Given the description of an element on the screen output the (x, y) to click on. 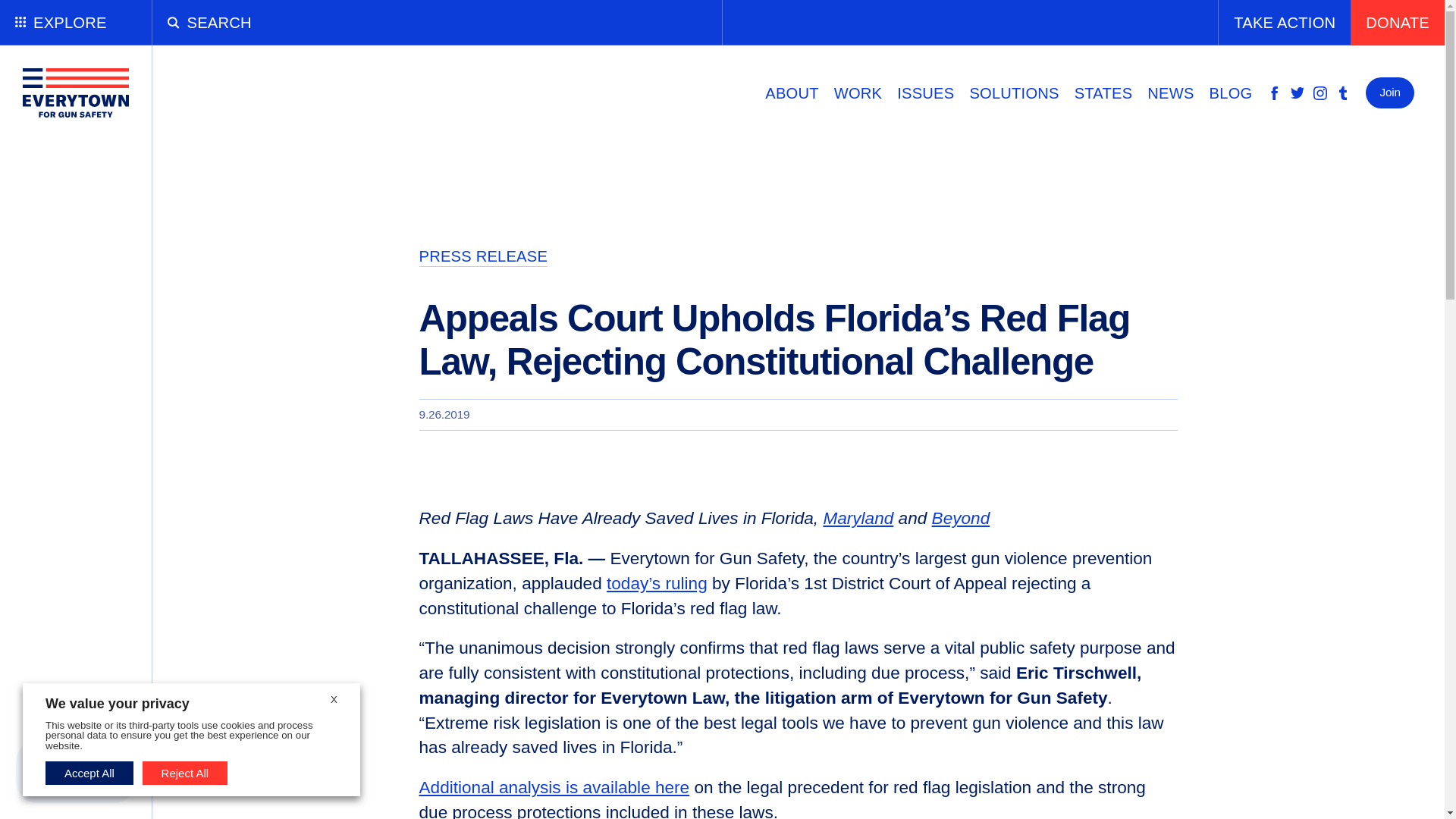
TAKE ACTION (1284, 22)
ABOUT (791, 92)
EXPLORE (75, 22)
